Given the description of an element on the screen output the (x, y) to click on. 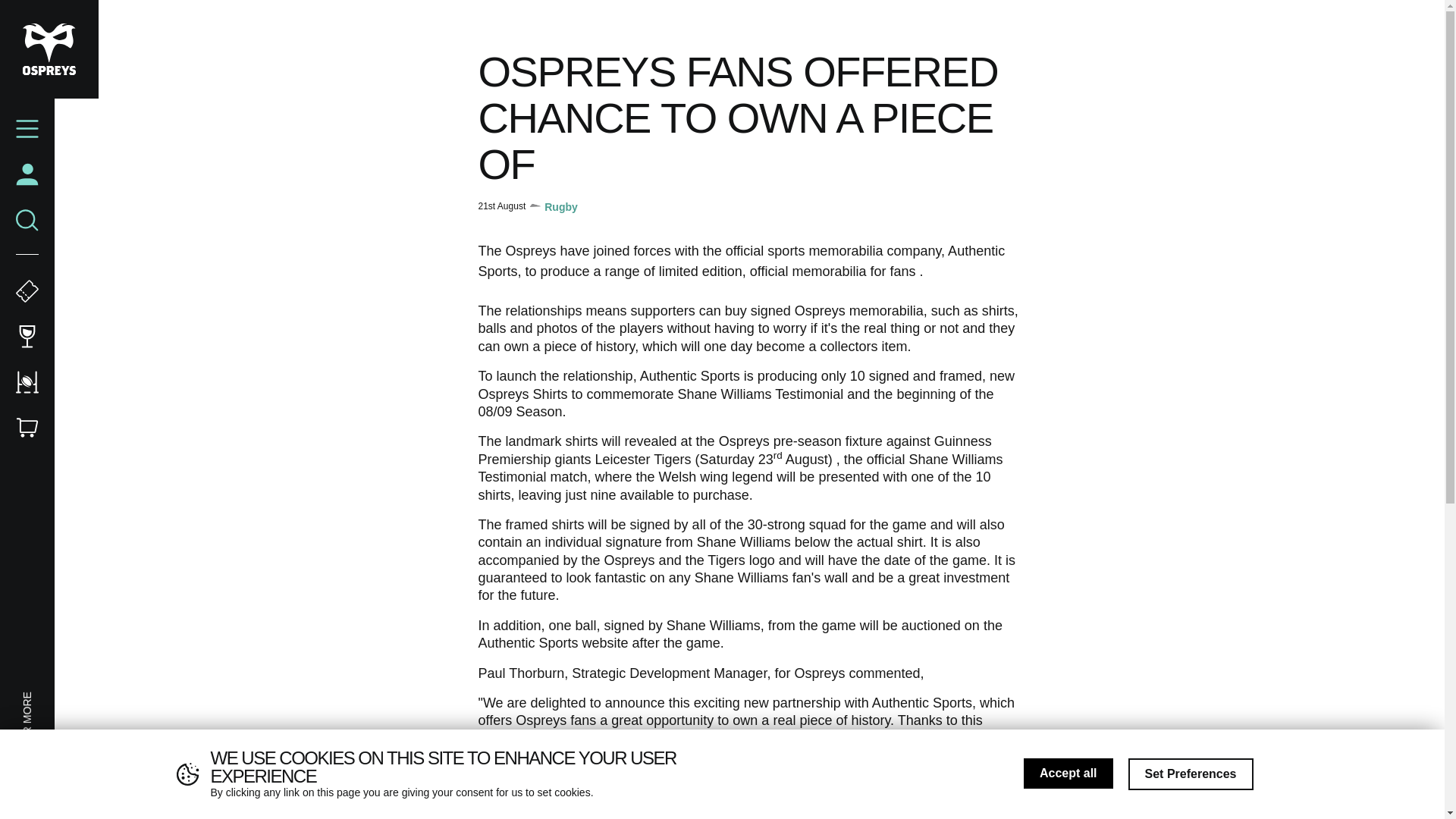
Search (27, 219)
Menu Closed (27, 128)
SCROLL FOR MORE (71, 699)
Search (27, 219)
Menu Closed (27, 128)
